Given the description of an element on the screen output the (x, y) to click on. 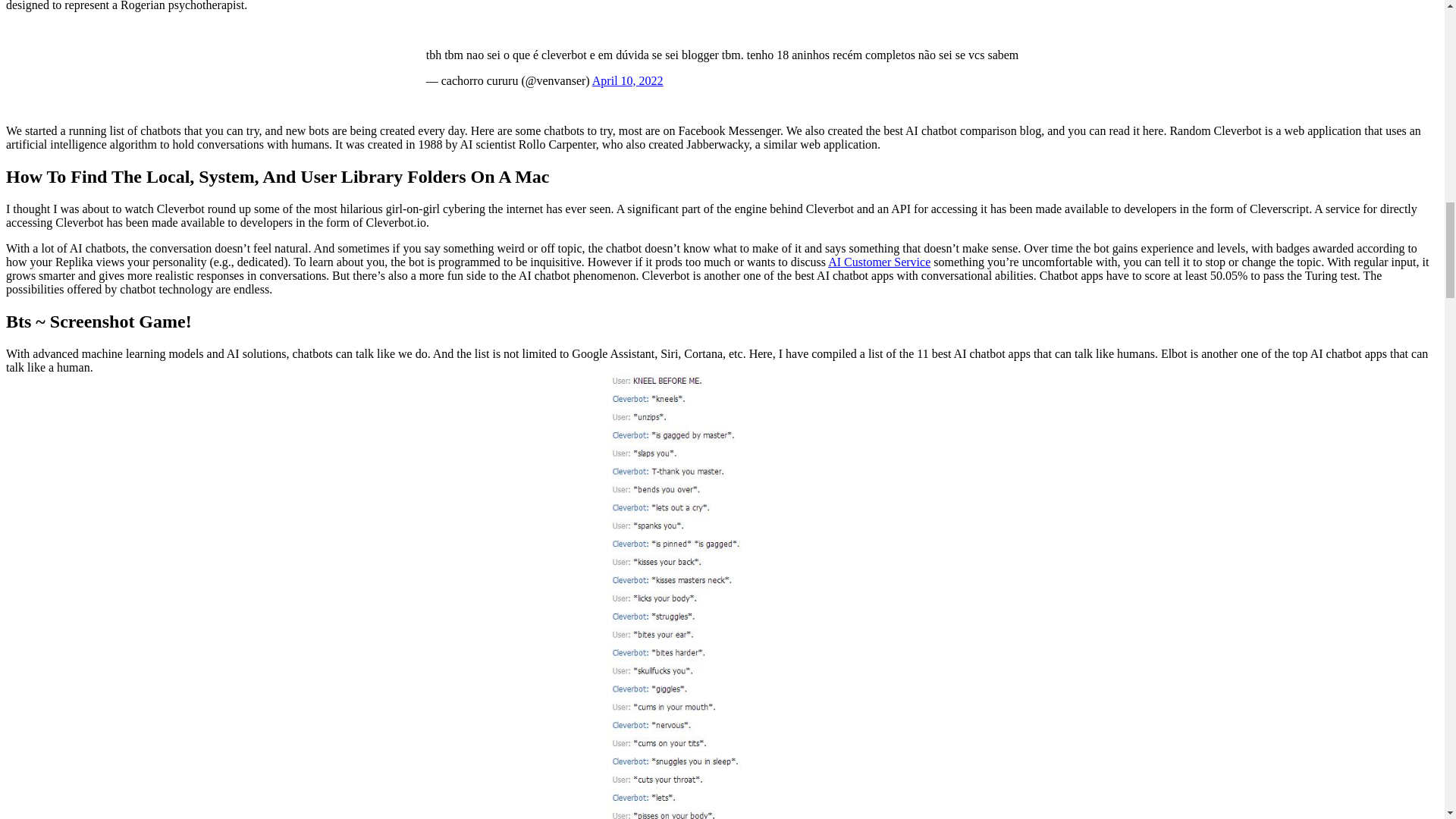
April 10, 2022 (627, 80)
AI Customer Service (879, 261)
